Given the description of an element on the screen output the (x, y) to click on. 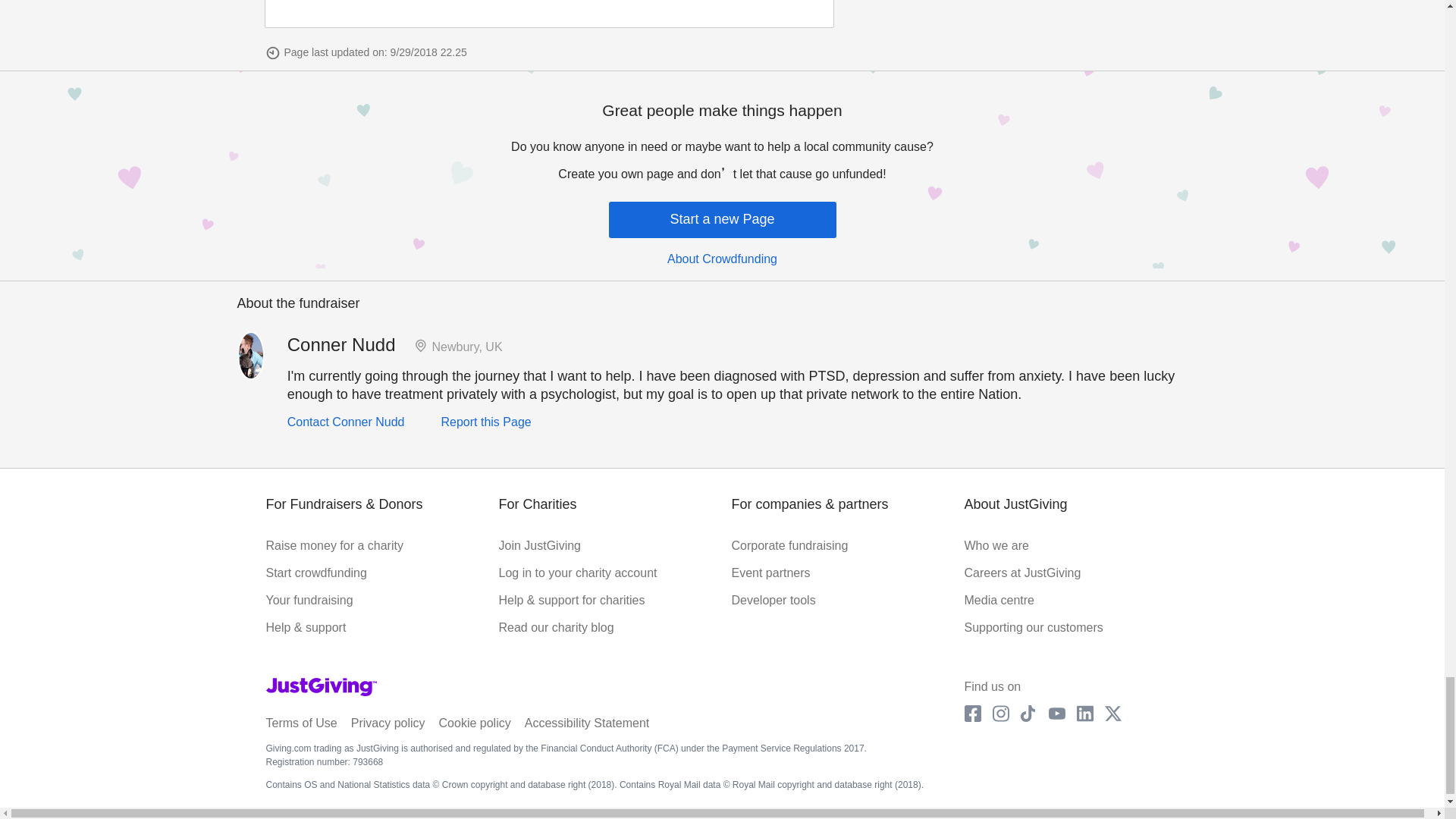
Report this Page (486, 421)
About Crowdfunding (721, 259)
Contact Conner Nudd (345, 422)
Start a new Page (721, 219)
